Given the description of an element on the screen output the (x, y) to click on. 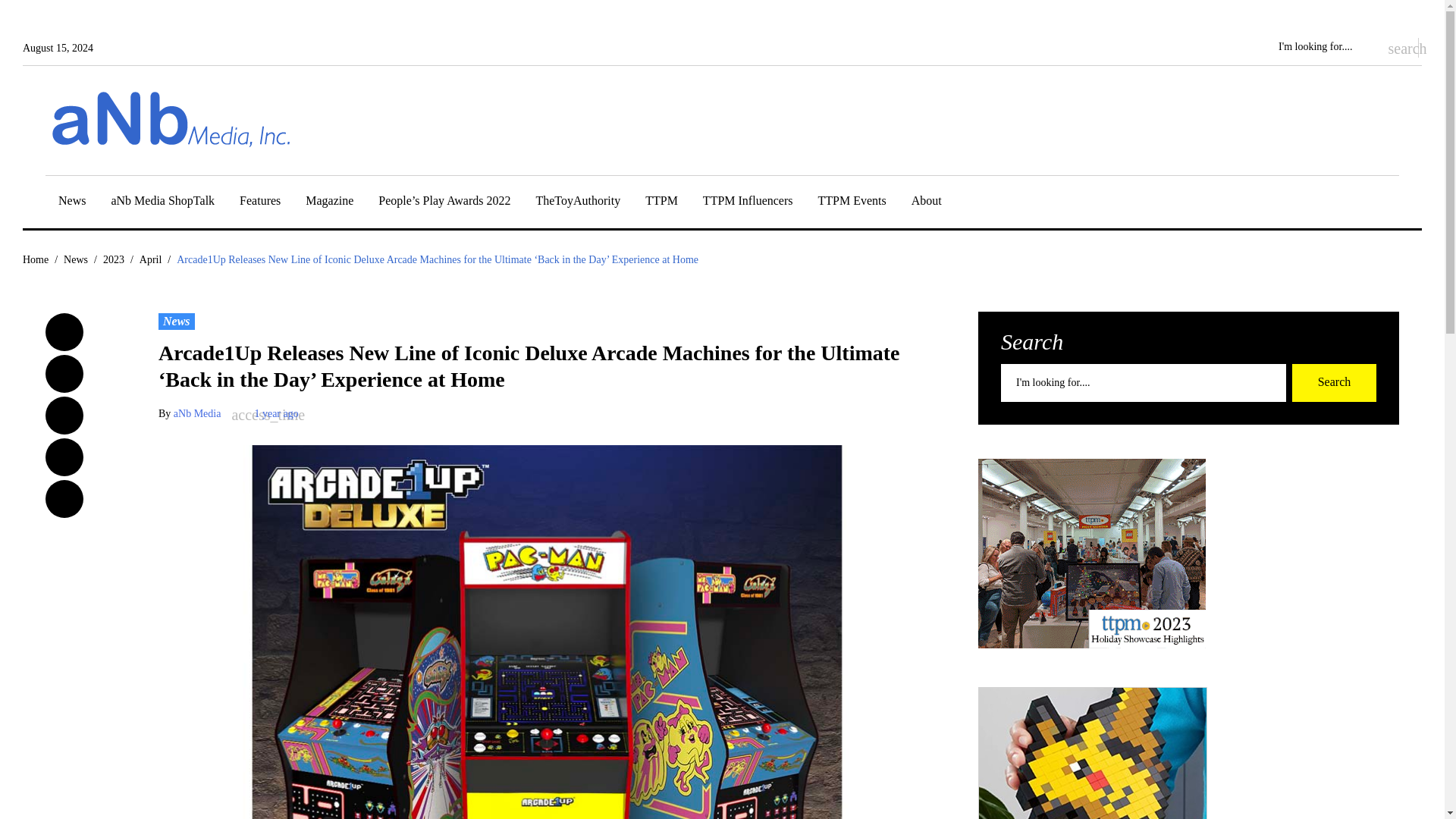
About (926, 203)
Pinterest (63, 498)
April (150, 259)
Features (260, 203)
TTPM (660, 203)
News (176, 321)
1 year ago (275, 413)
aNb Media (197, 413)
TTPM Influencers (748, 203)
search (1395, 46)
